Given the description of an element on the screen output the (x, y) to click on. 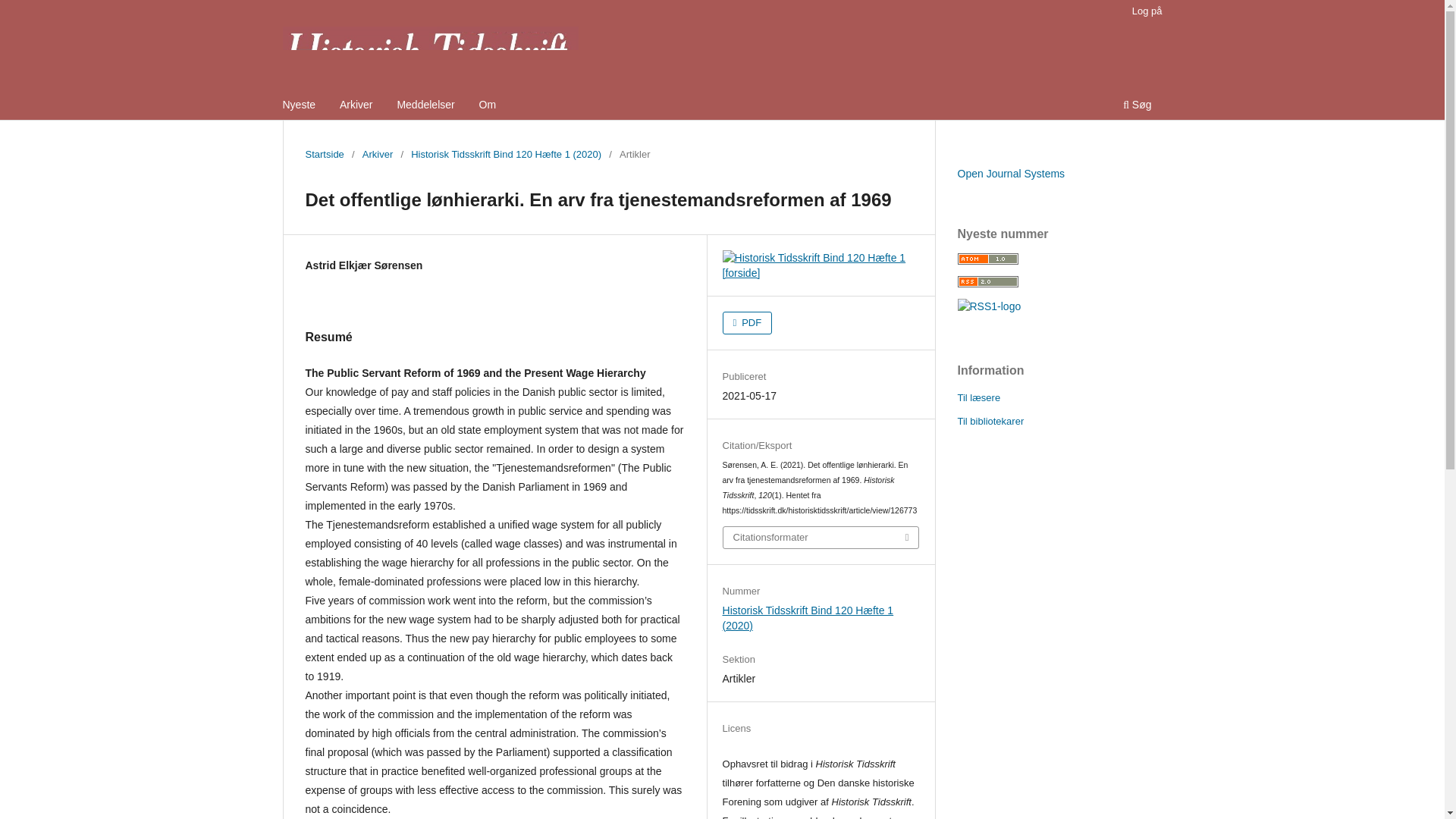
Om (488, 106)
Meddelelser (425, 106)
Citationsformater (820, 537)
Arkiver (356, 106)
Open Journal Systems (1010, 173)
PDF (747, 323)
Arkiver (377, 154)
Nyeste (299, 106)
Startside (323, 154)
